Given the description of an element on the screen output the (x, y) to click on. 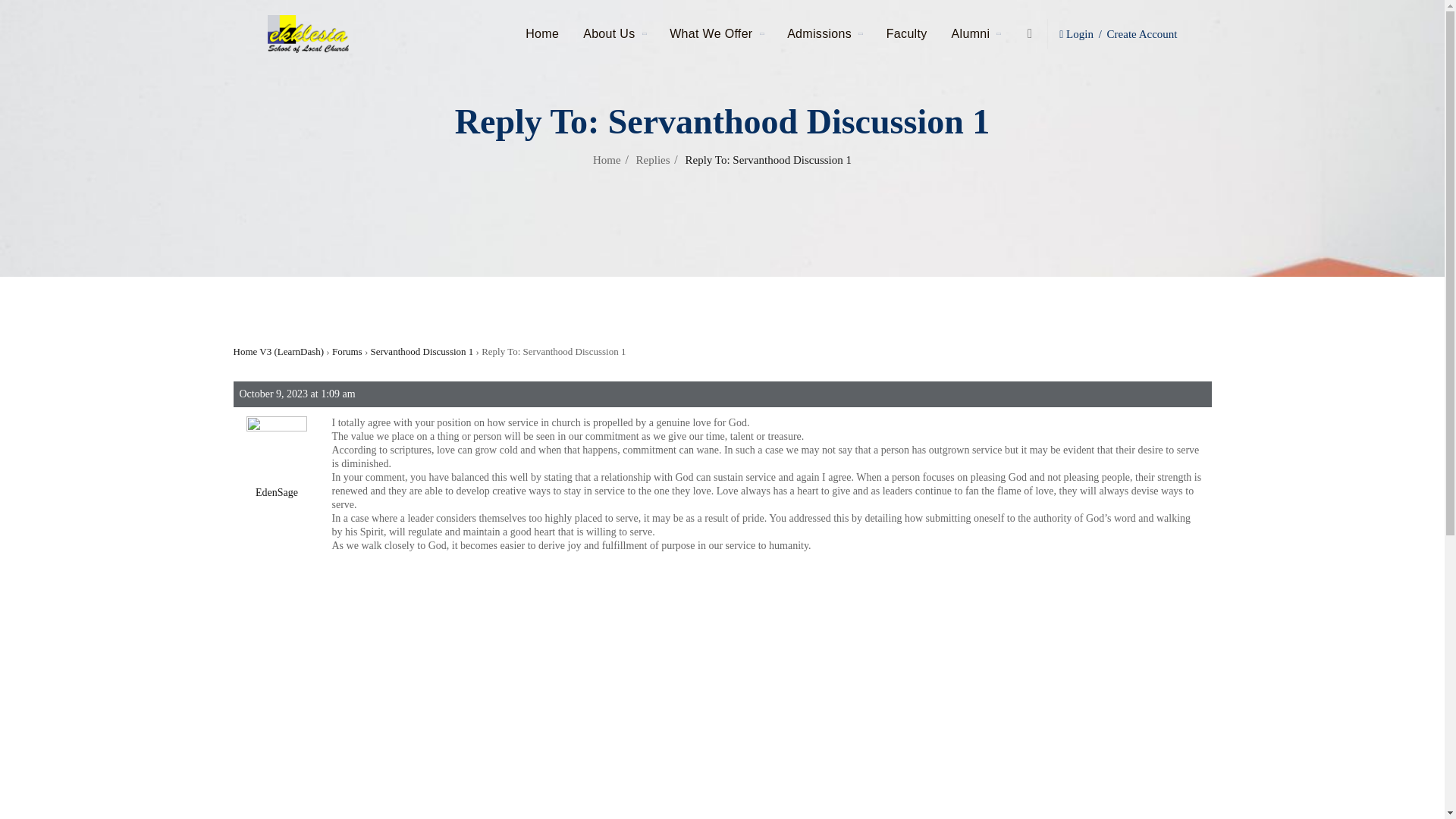
Alumni (975, 33)
Admissions (824, 33)
Create Account (1141, 34)
Faculty (907, 33)
Login (1079, 34)
What We Offer (716, 33)
About Us (614, 33)
Search (1000, 100)
View EdenSage's profile (276, 453)
